Given the description of an element on the screen output the (x, y) to click on. 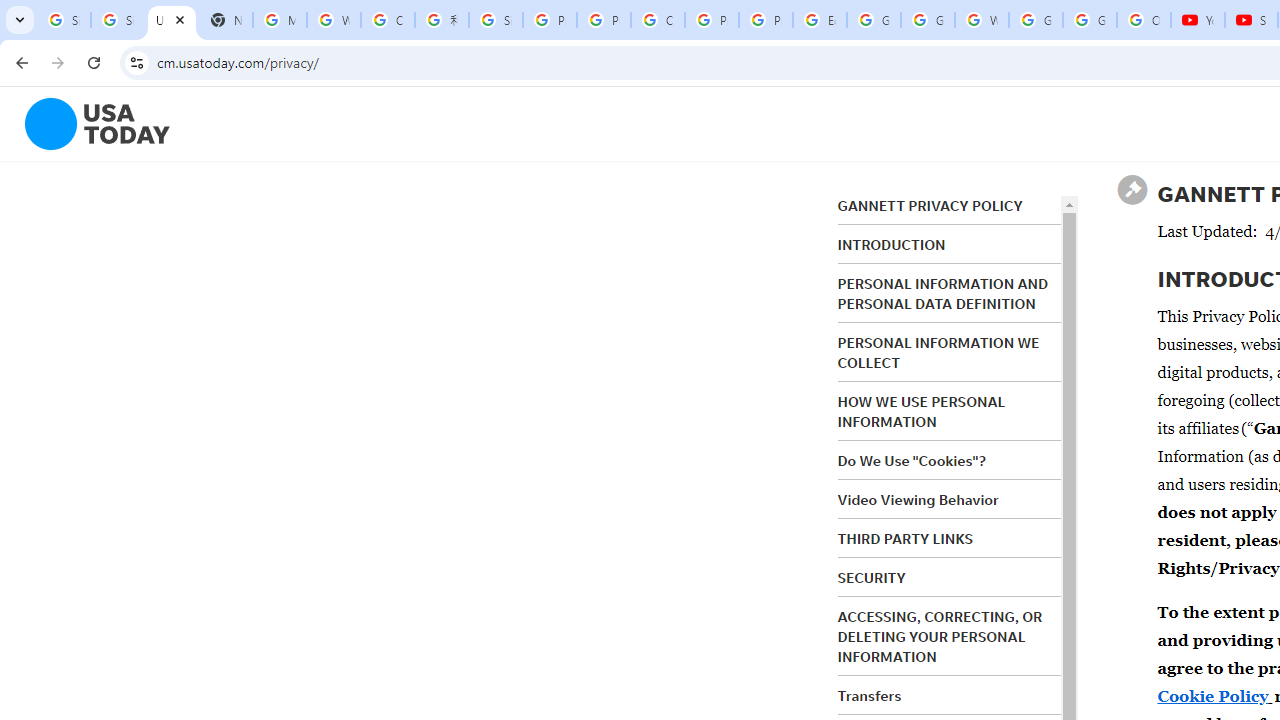
Sign in - Google Accounts (117, 20)
Video Viewing Behavior (917, 500)
Edit and view right-to-left text - Google Docs Editors Help (819, 20)
New Tab (225, 20)
GANNETT PRIVACY POLICY (929, 206)
Google Slides: Sign-in (874, 20)
USA TODAY (171, 20)
Cookie Policy (1212, 696)
